Given the description of an element on the screen output the (x, y) to click on. 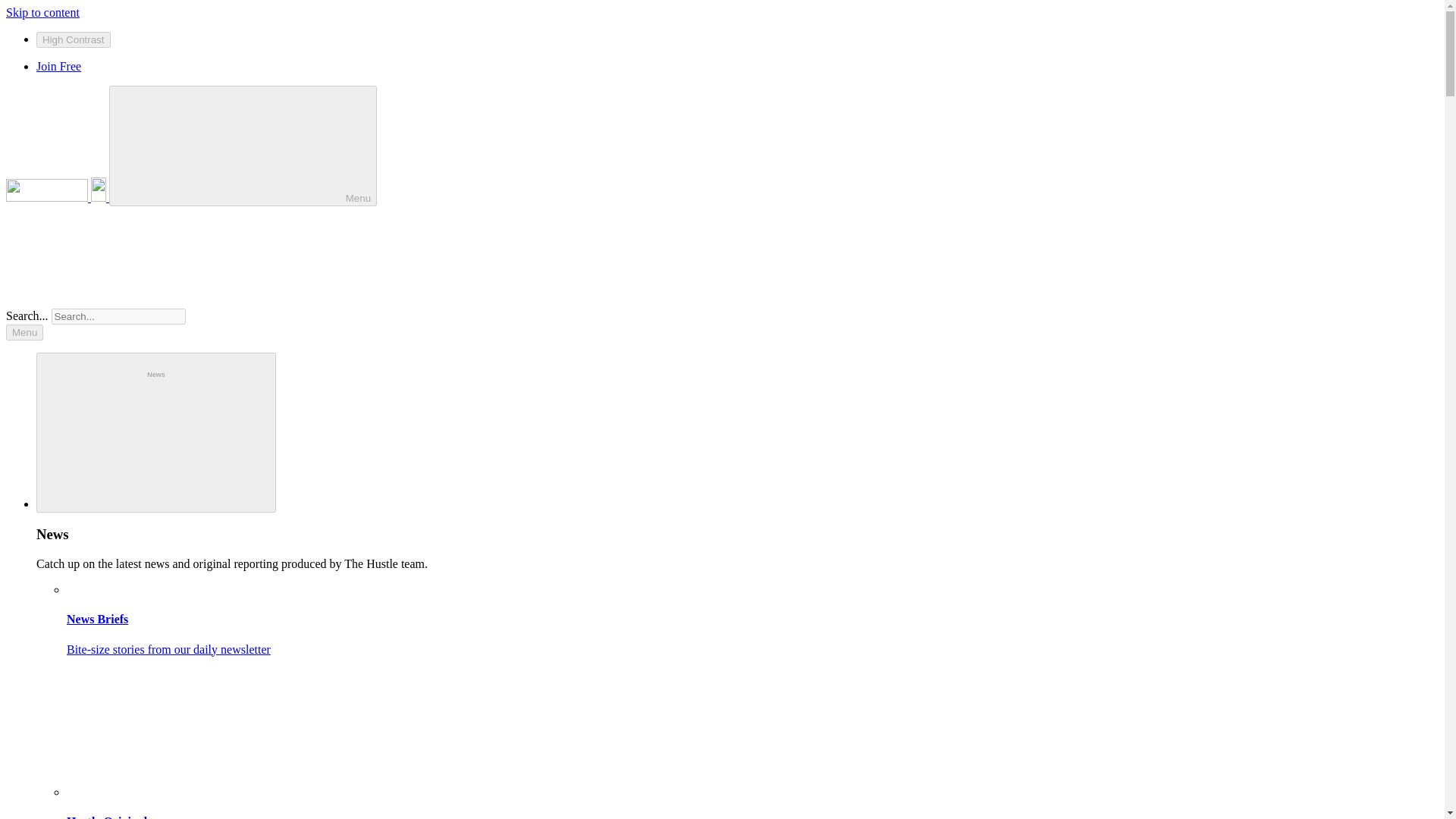
Menu (243, 145)
Menu (24, 332)
Join Free (58, 65)
News (156, 432)
Skip to content (42, 11)
High Contrast (73, 39)
